Given the description of an element on the screen output the (x, y) to click on. 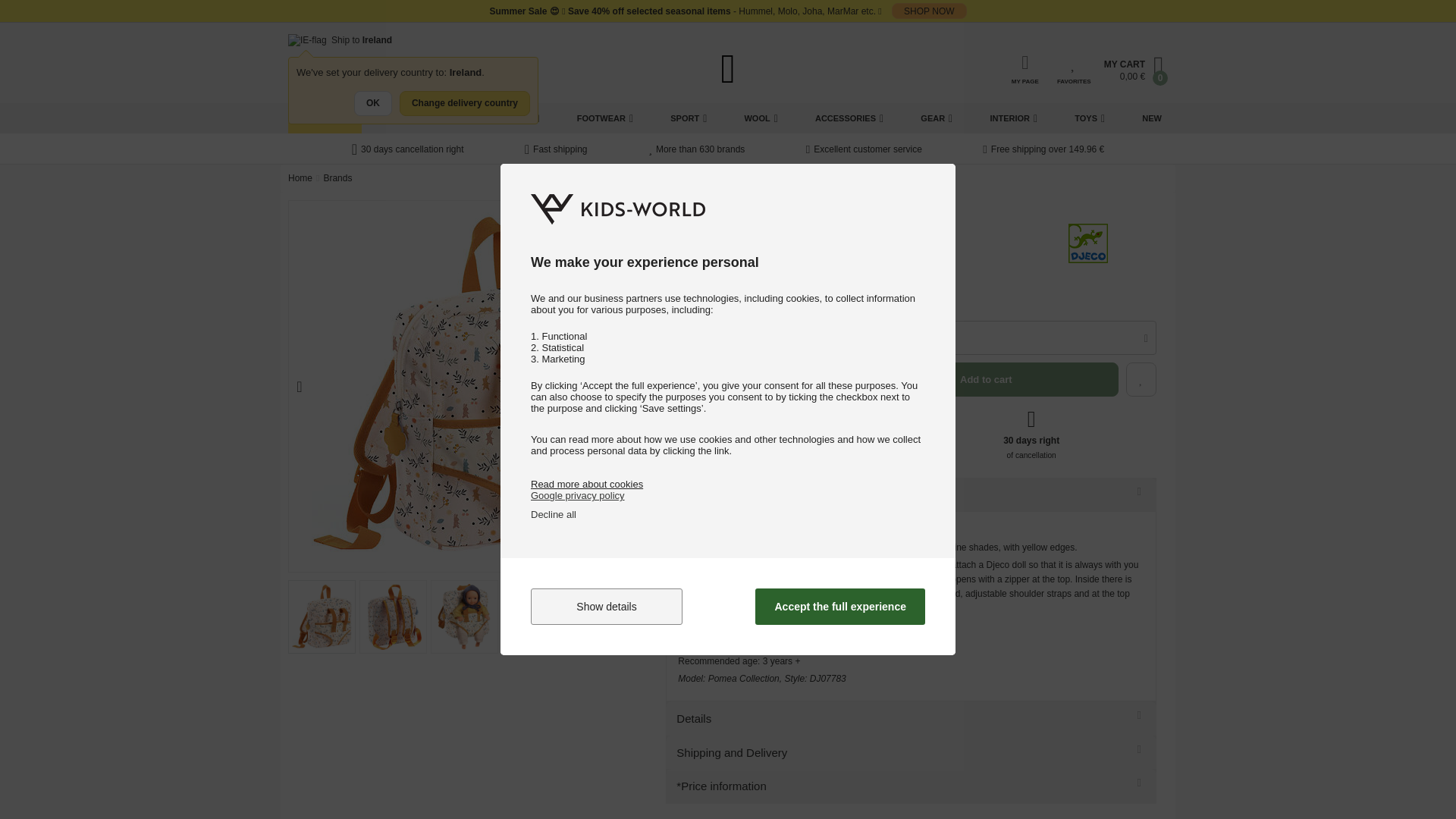
Show details (606, 606)
Google privacy policy (577, 495)
Decline all (553, 514)
1 (687, 337)
Accept the full experience (839, 606)
Read more about cookies (587, 483)
